Given the description of an element on the screen output the (x, y) to click on. 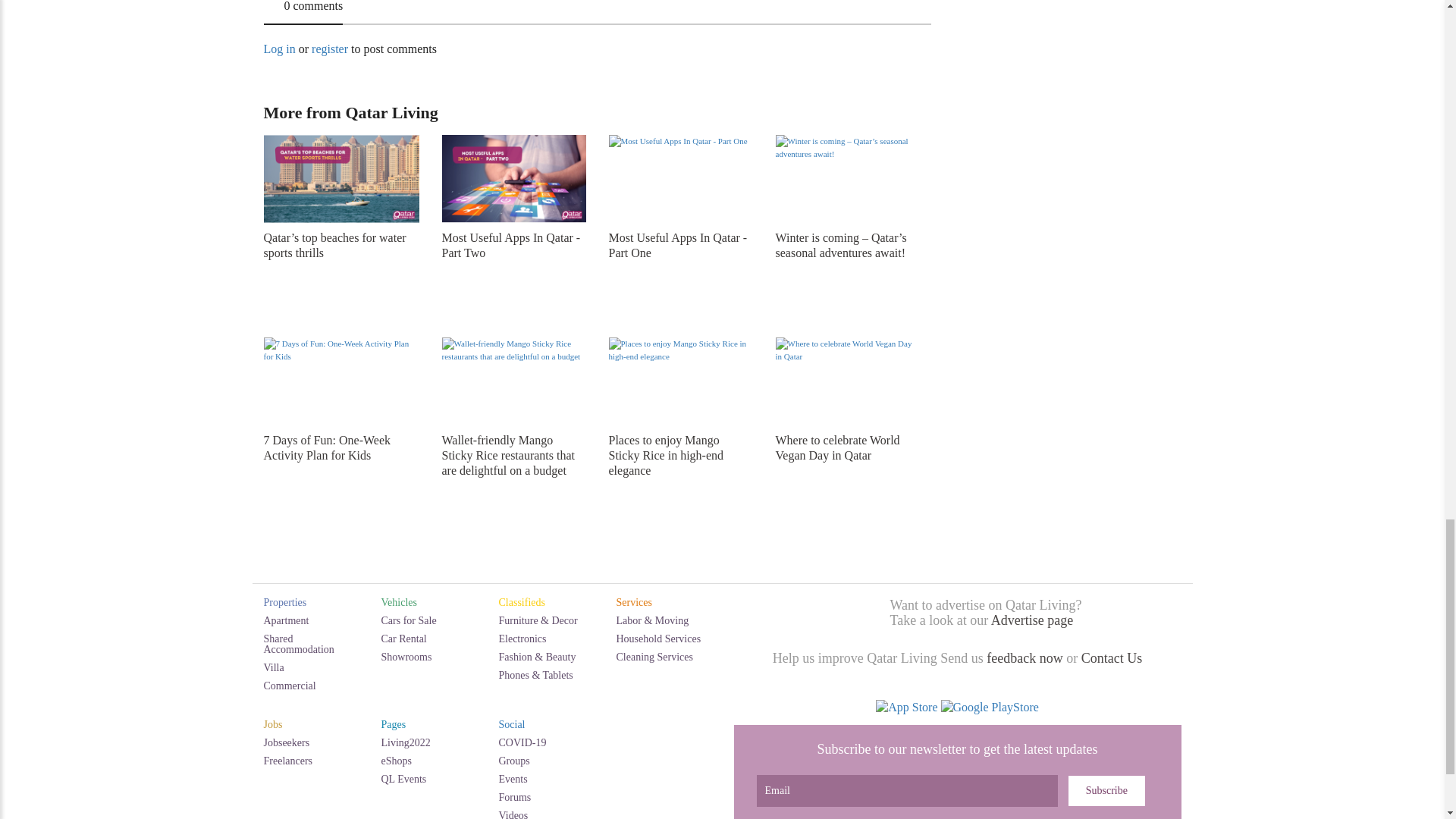
Subscribe (1106, 790)
